Given the description of an element on the screen output the (x, y) to click on. 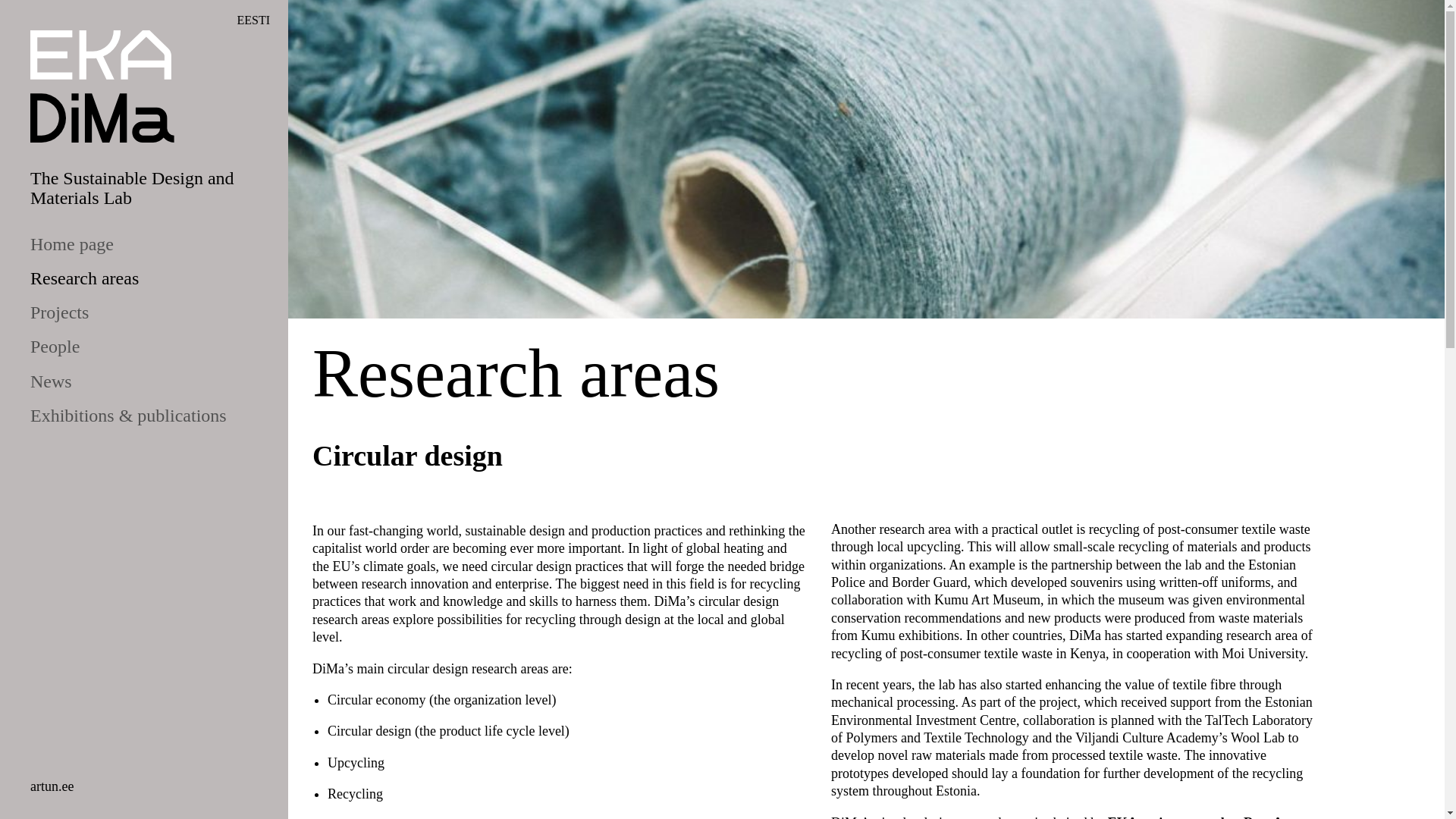
News (41, 381)
artun.ee (52, 785)
EESTI (252, 19)
EESTI (252, 20)
People (45, 346)
The Sustainable Design and Materials Lab (132, 188)
Home page (62, 244)
Projects (49, 312)
Research areas (74, 278)
